Given the description of an element on the screen output the (x, y) to click on. 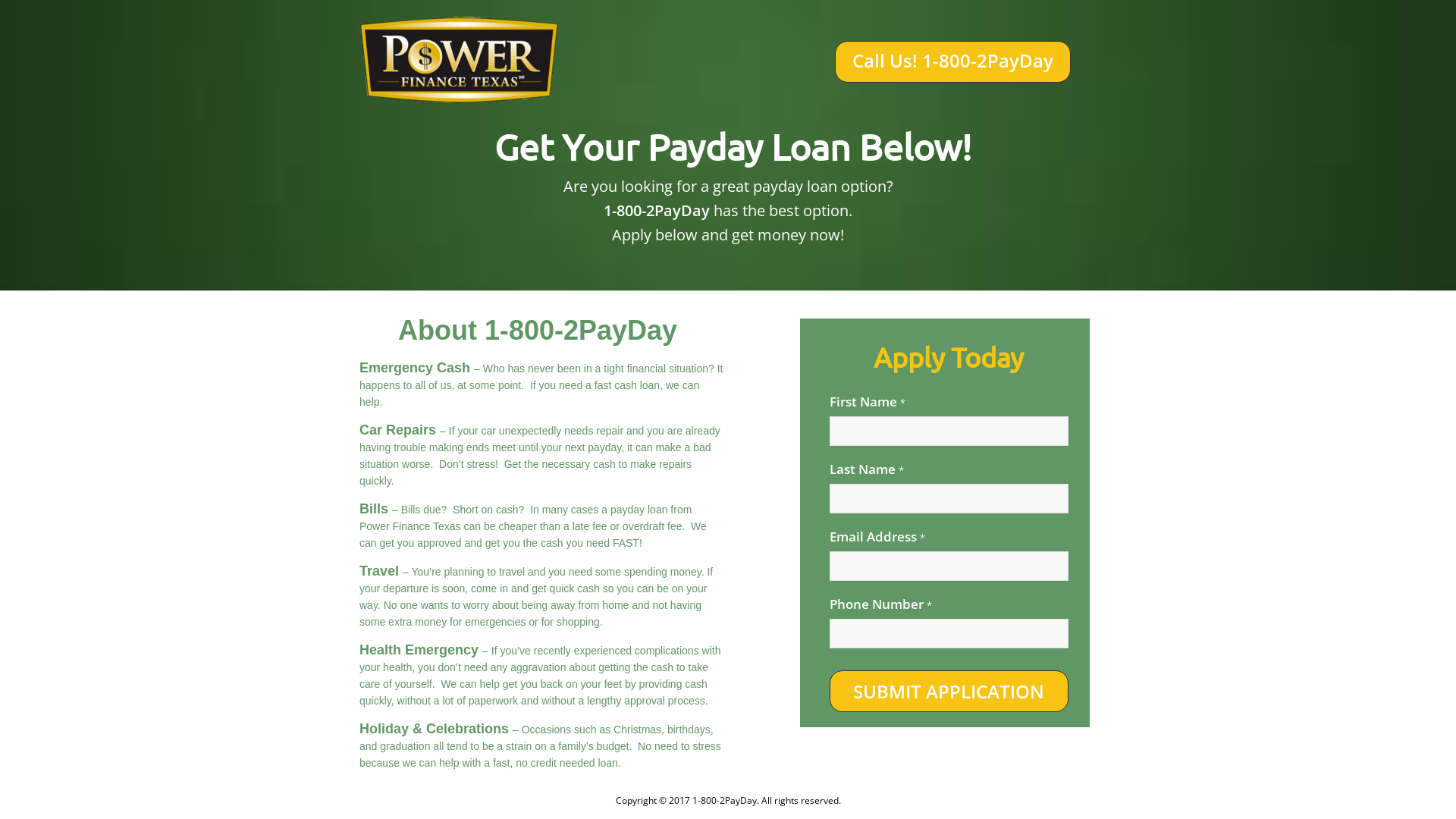
Call Us! 1-800-2PayDay Element type: text (952, 61)
Submit Application Element type: text (948, 691)
tax Element type: hover (460, 61)
